Given the description of an element on the screen output the (x, y) to click on. 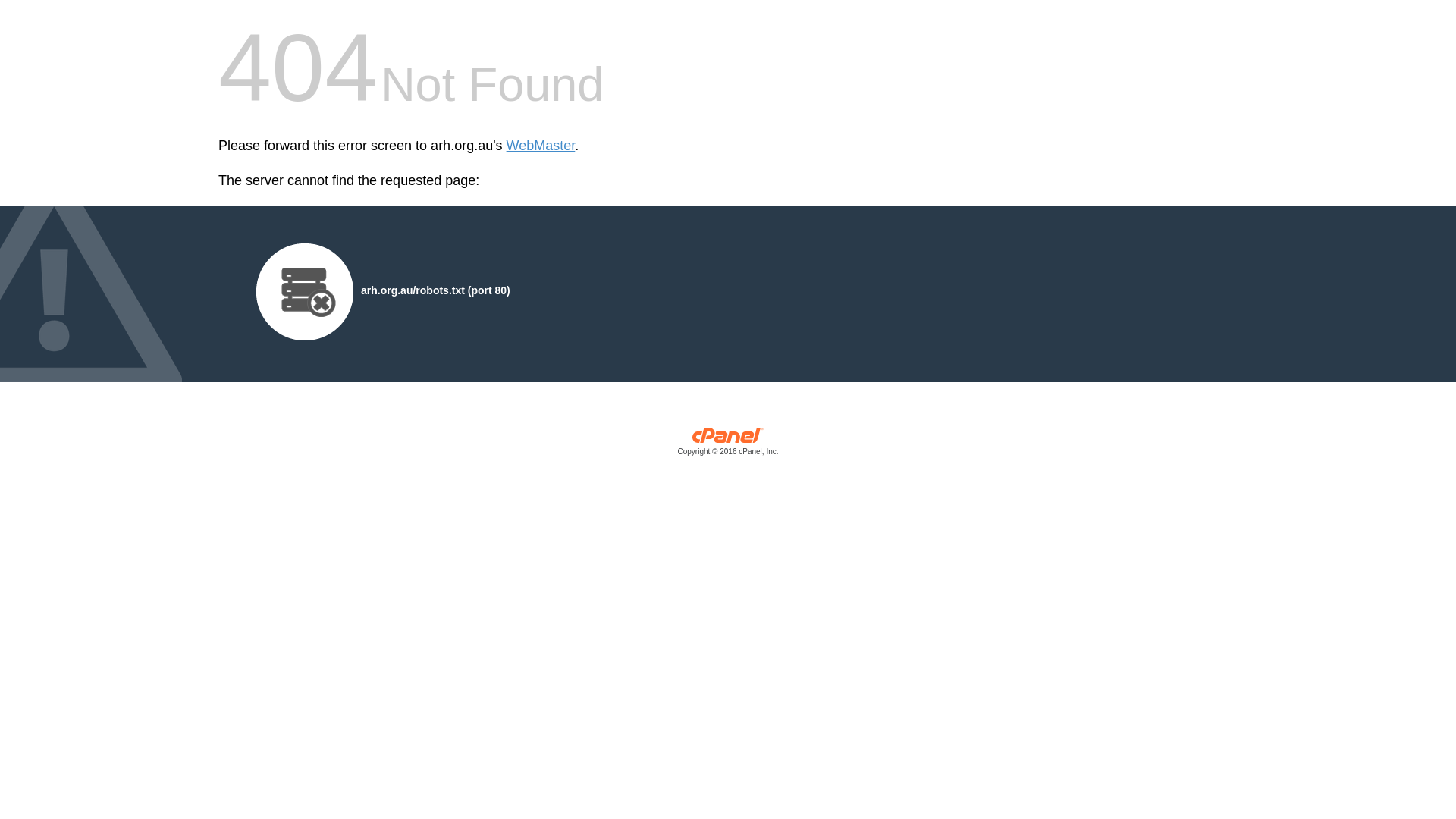
WebMaster Element type: text (540, 145)
